Given the description of an element on the screen output the (x, y) to click on. 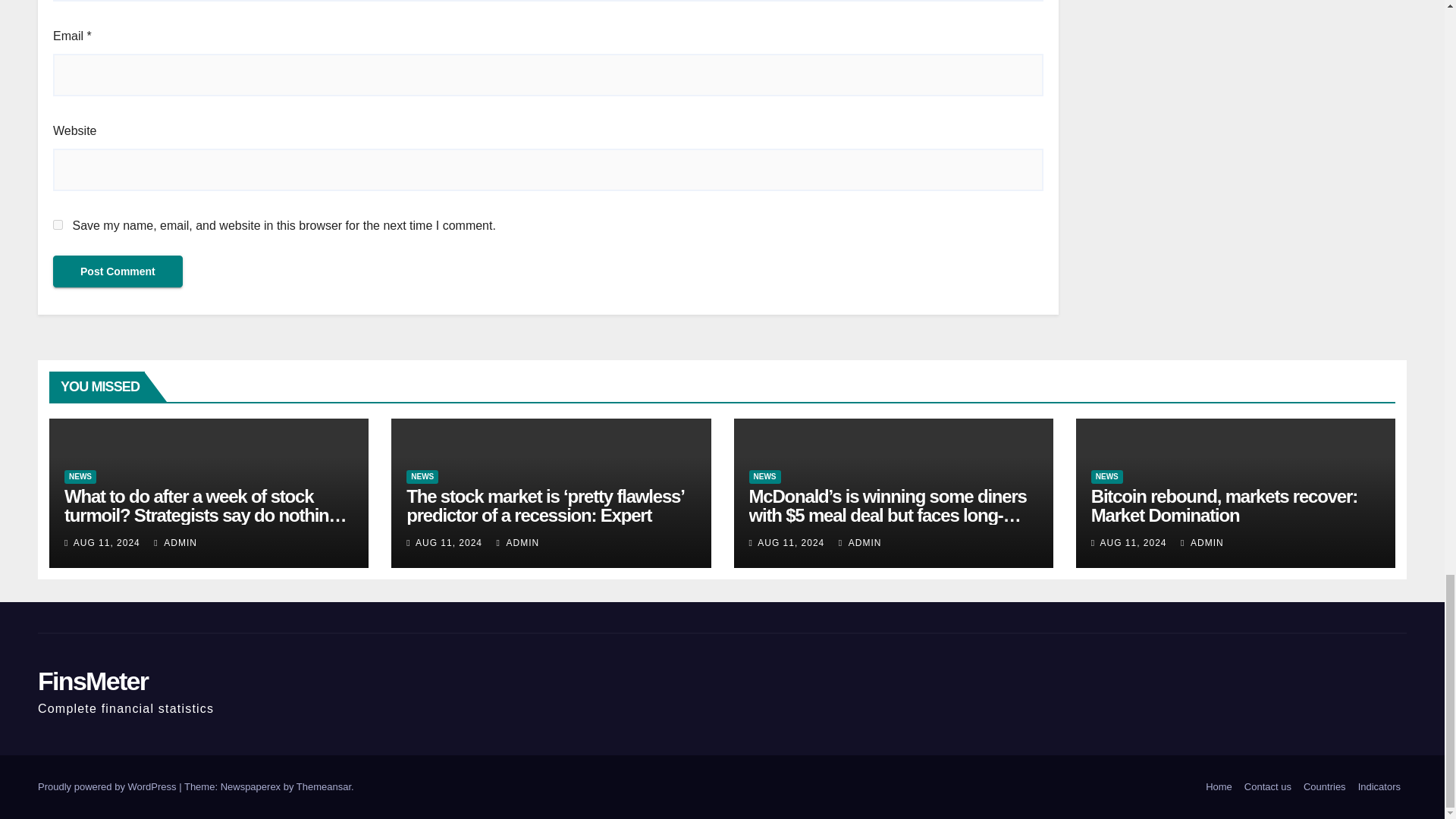
yes (57, 225)
Post Comment (117, 271)
